Given the description of an element on the screen output the (x, y) to click on. 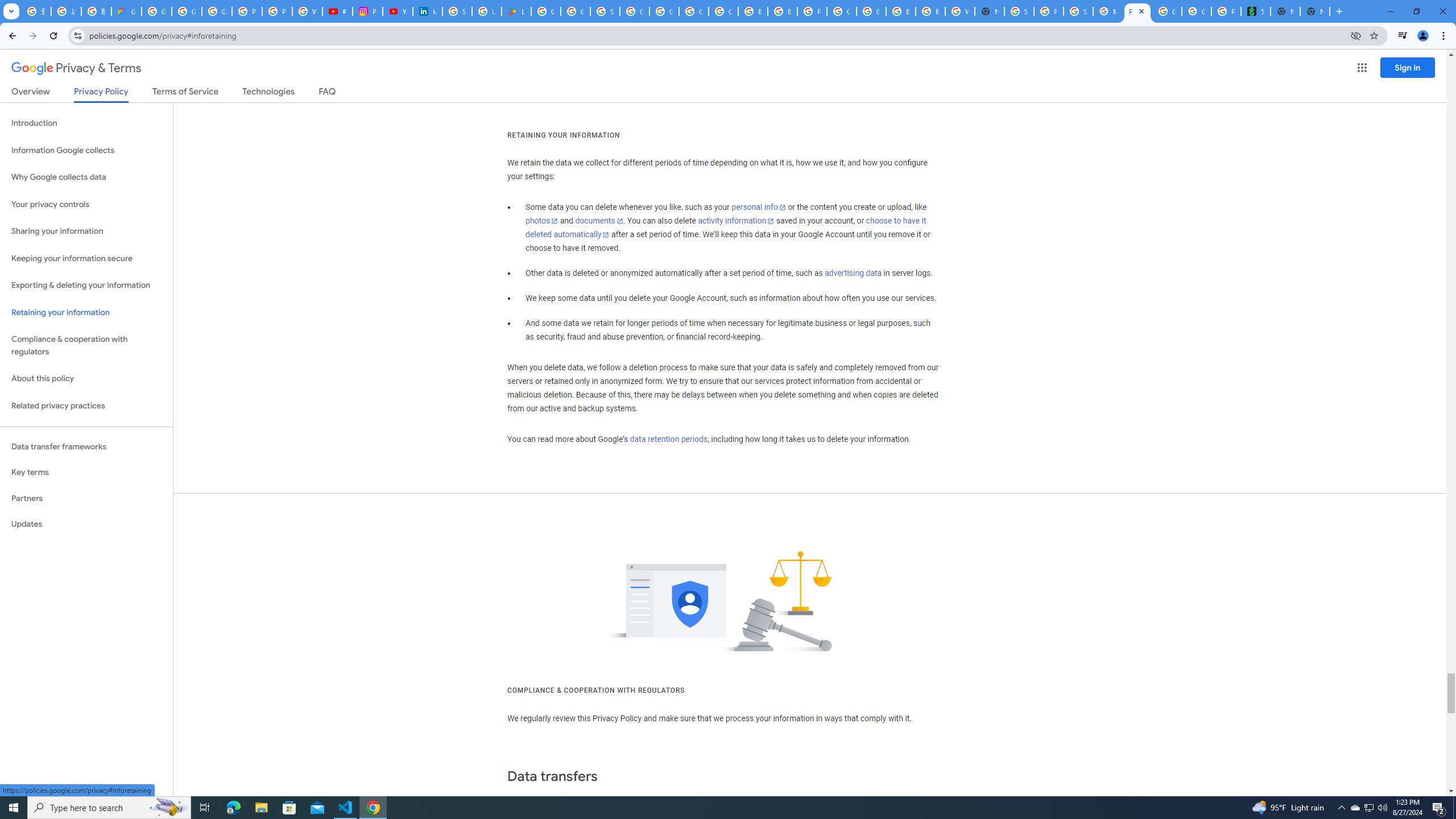
Sign in (1407, 67)
Key terms (86, 472)
Browse Chrome as a guest - Computer - Google Chrome Help (900, 11)
photos (542, 221)
Browse Chrome as a guest - Computer - Google Chrome Help (930, 11)
Sign in - Google Accounts (456, 11)
Control your music, videos, and more (1402, 35)
Overview (30, 93)
Data transfer frameworks (86, 446)
